Given the description of an element on the screen output the (x, y) to click on. 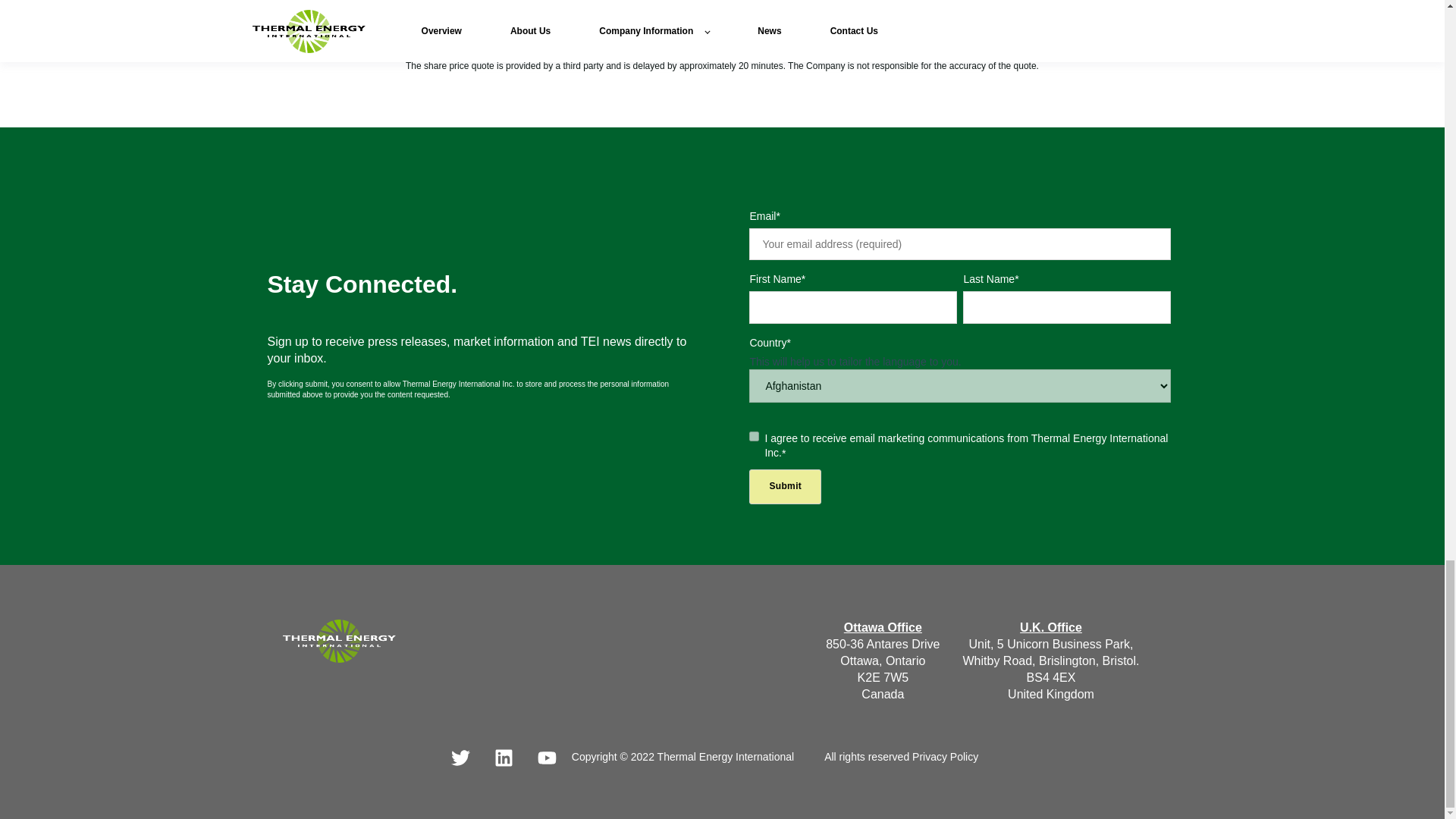
true (753, 436)
advanced chart TradingView widget (496, 18)
advanced chart TradingView widget (947, 18)
Submit (785, 486)
Submit (785, 486)
Privacy Policy (945, 756)
